Given the description of an element on the screen output the (x, y) to click on. 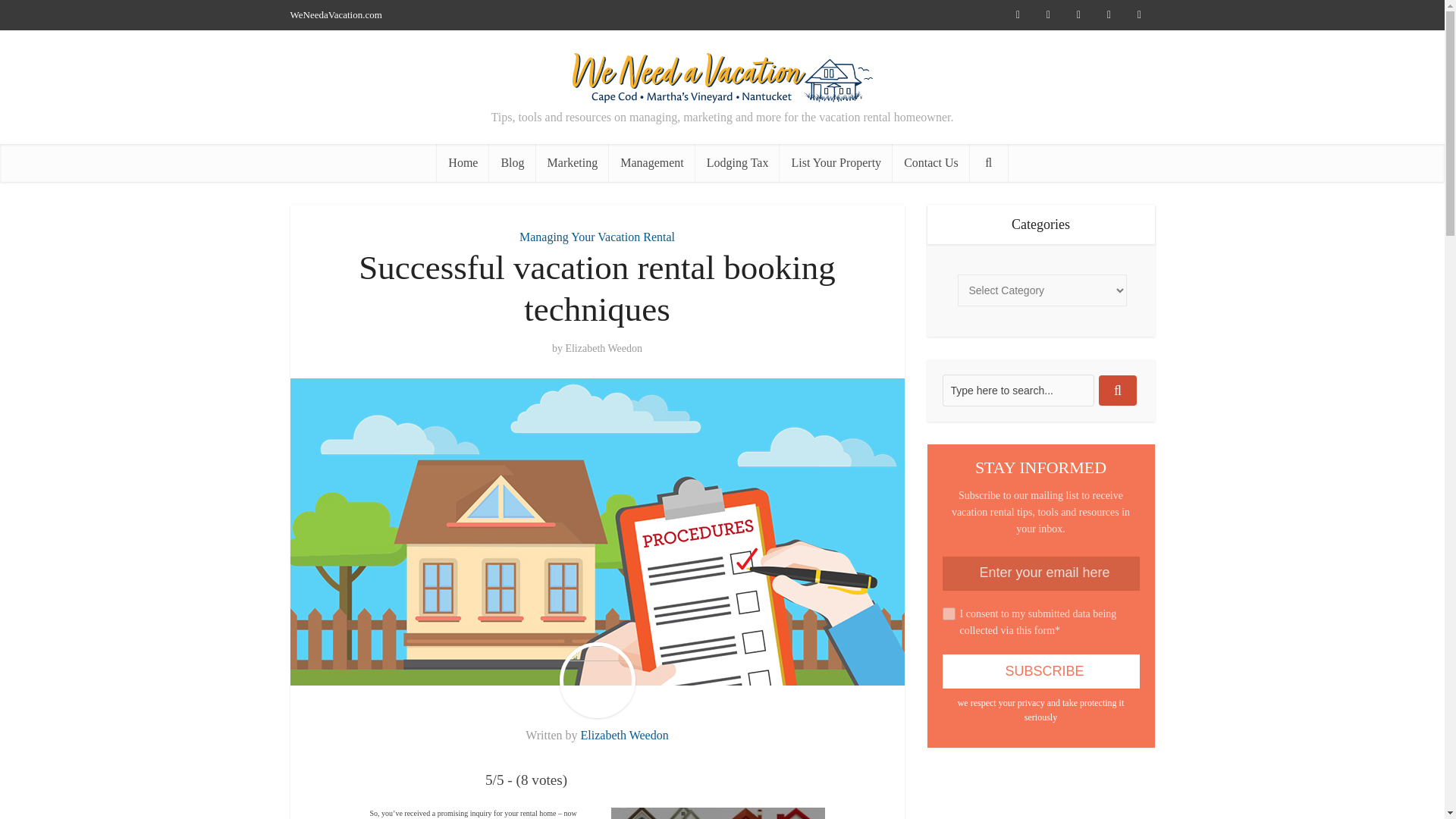
WeNeedaVacation.com (335, 14)
Managing Your Vacation Rental (597, 236)
Management (651, 162)
Marketing (572, 162)
Blog (512, 162)
Contact Us (930, 162)
Subscribe (1040, 671)
Type here to search... (1017, 390)
Type here to search... (1017, 390)
List Your Property (835, 162)
